Given the description of an element on the screen output the (x, y) to click on. 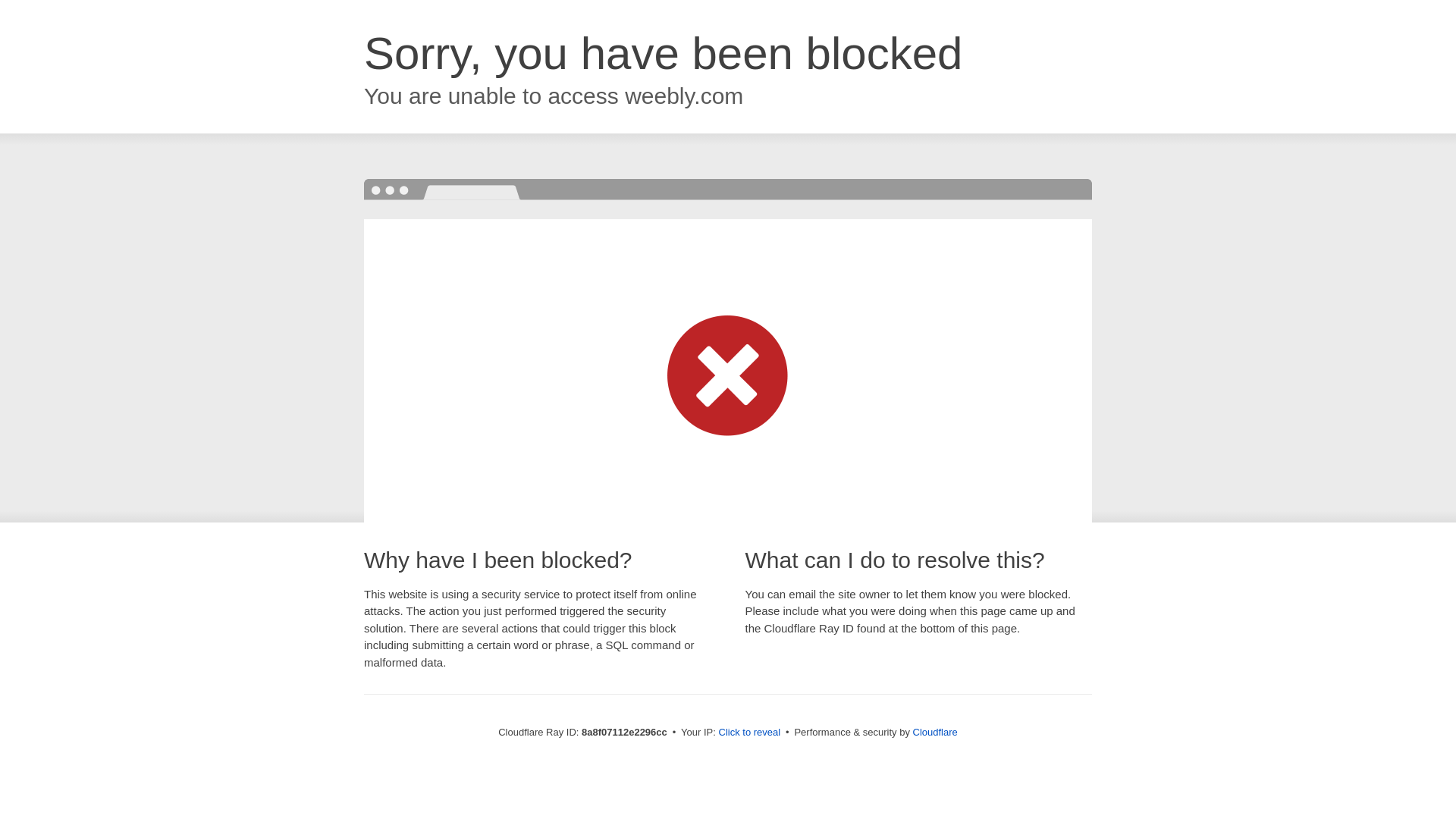
Cloudflare (935, 731)
Click to reveal (749, 732)
